Given the description of an element on the screen output the (x, y) to click on. 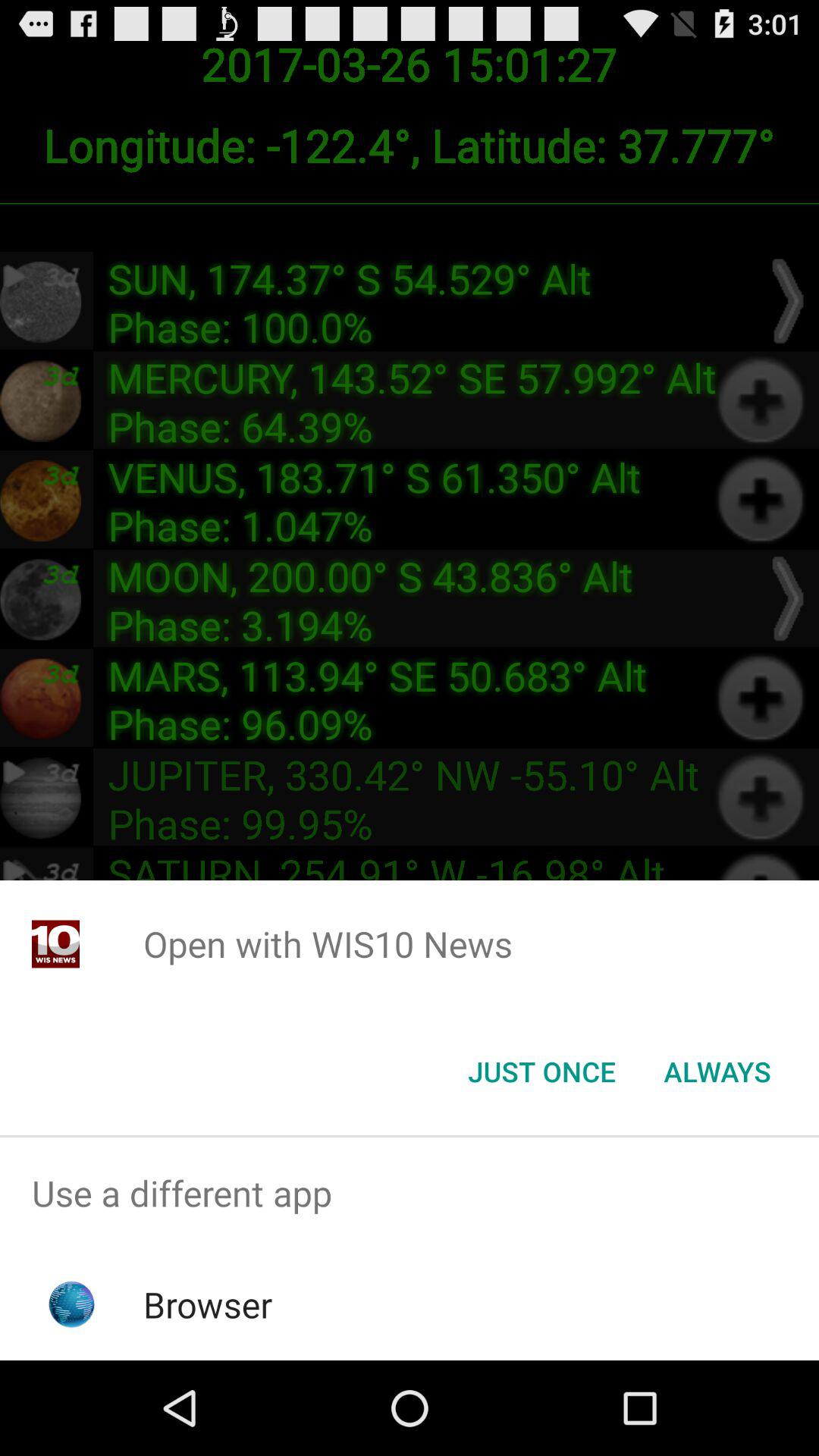
flip until just once item (541, 1071)
